Given the description of an element on the screen output the (x, y) to click on. 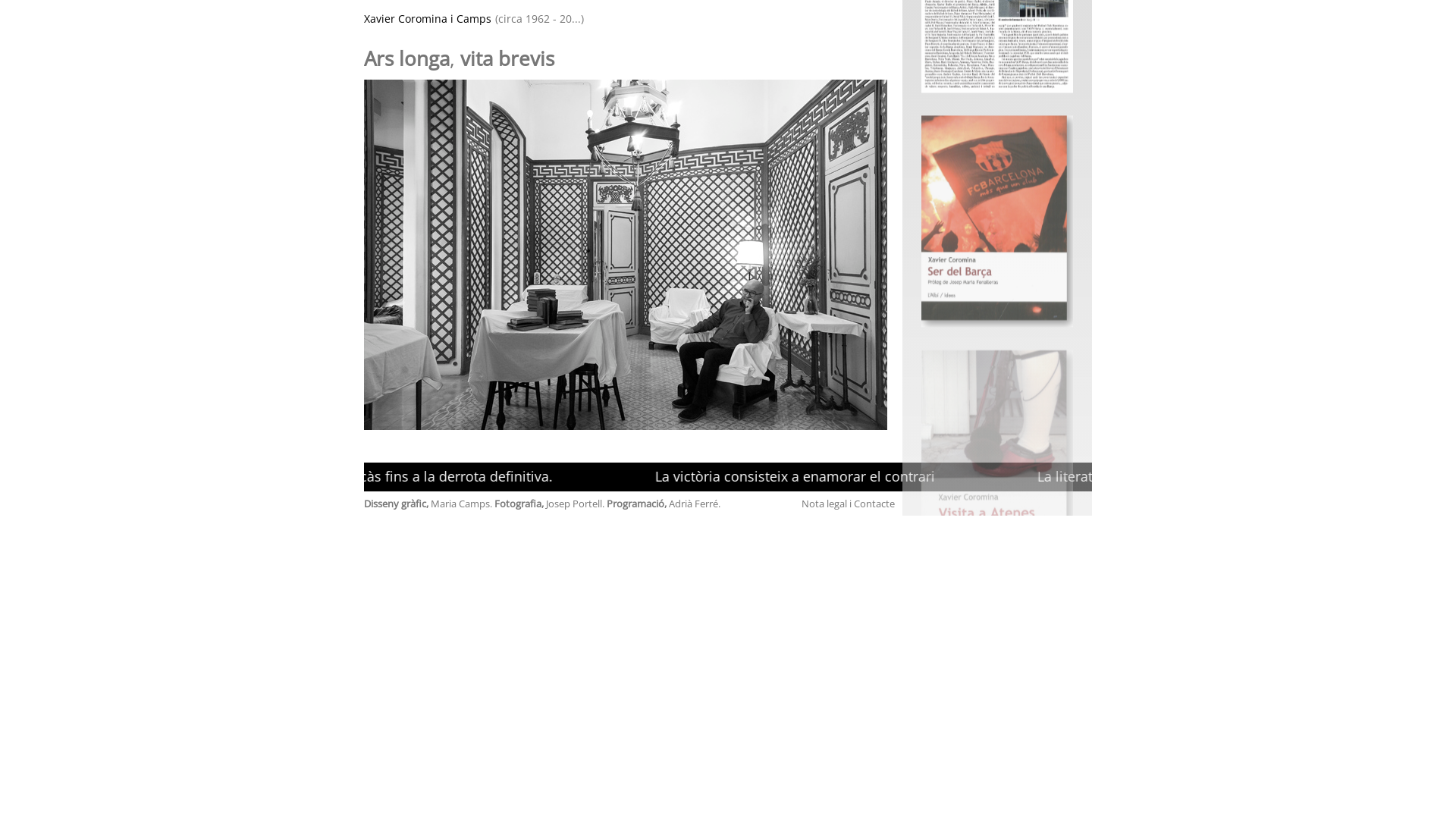
Xavier Coromina i Camps
(circa 1962 - 20...) Element type: text (629, 18)
Nota legal i Contacte Element type: text (847, 503)
